Given the description of an element on the screen output the (x, y) to click on. 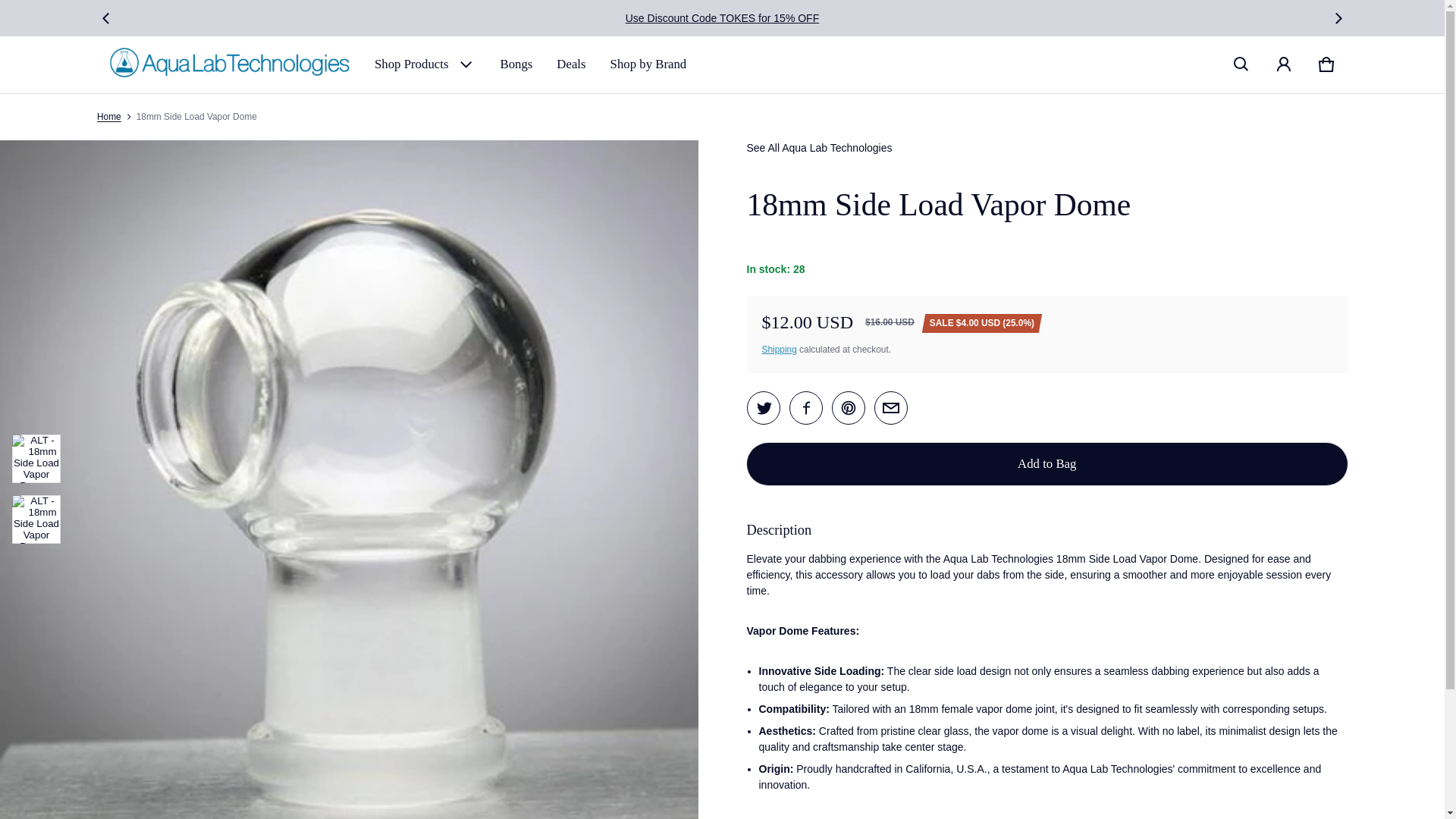
Twitter (762, 407)
Facebook (804, 407)
18mm Side Load Vapor Dome (889, 407)
Pinterest (847, 407)
